Given the description of an element on the screen output the (x, y) to click on. 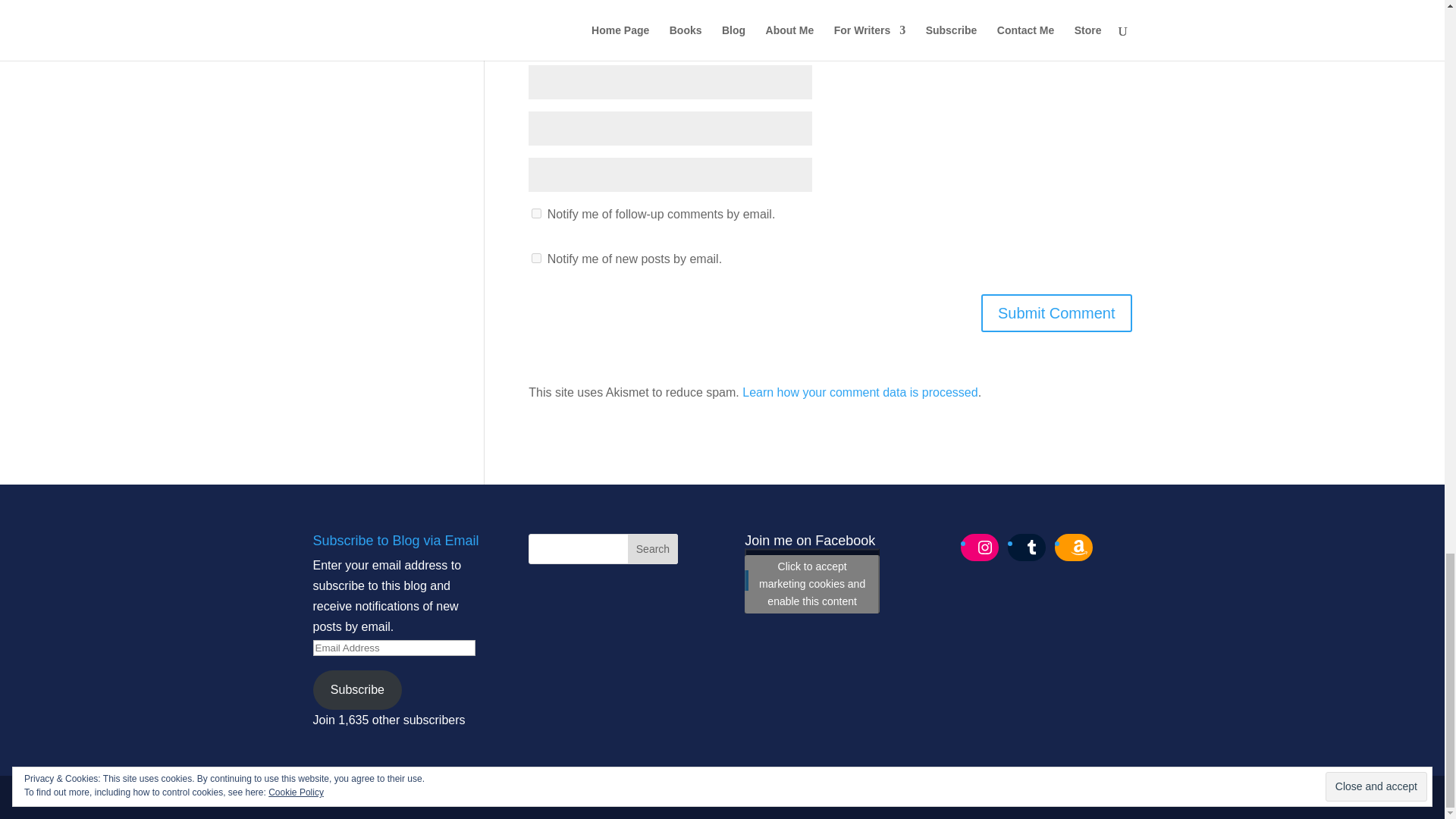
Submit Comment (1056, 313)
subscribe (536, 213)
Search (652, 548)
subscribe (536, 257)
Submit Comment (1056, 313)
Premium WordPress Themes (430, 797)
